Given the description of an element on the screen output the (x, y) to click on. 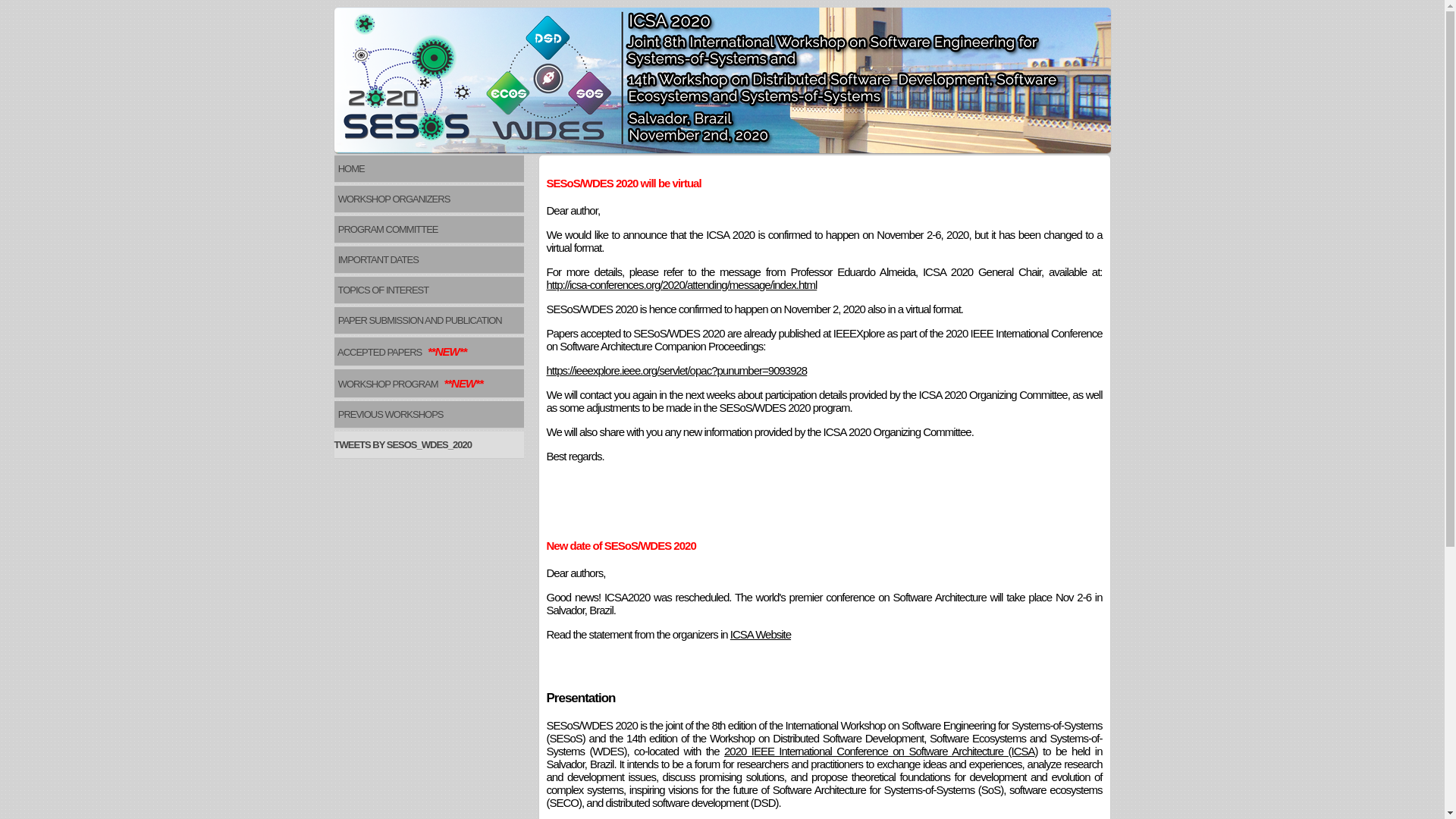
  WORKSHOP PROGRAM   **NEW** Element type: text (428, 383)
  ACCEPTED PAPERS   **NEW** Element type: text (428, 351)
  PROGRAM COMMITTEE Element type: text (428, 229)
  WORKSHOP ORGANIZERS Element type: text (428, 198)
  HOME Element type: text (428, 168)
  PREVIOUS WORKSHOPS Element type: text (428, 414)
https://ieeexplore.ieee.org/servlet/opac?punumber=9093928 Element type: text (676, 370)
TWEETS BY SESOS_WDES_2020 Element type: text (428, 444)
  IMPORTANT DATES Element type: text (428, 259)
  PAPER SUBMISSION AND PUBLICATION Element type: text (428, 320)
SESoS/WDES 2019 Element type: hover (721, 80)
ICSA Website Element type: text (760, 633)
  TOPICS OF INTEREST Element type: text (428, 289)
